Given the description of an element on the screen output the (x, y) to click on. 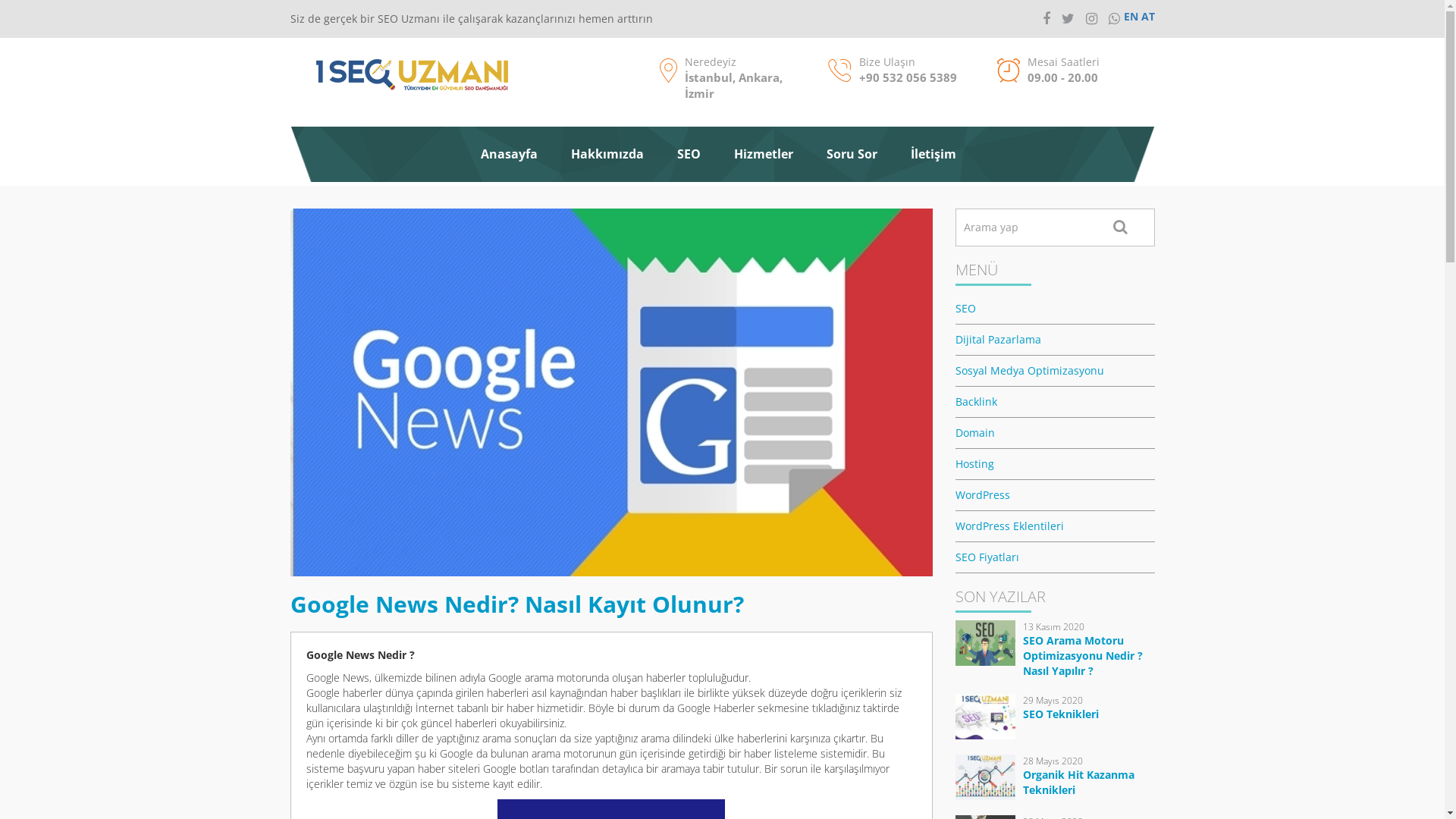
Sosyal Medya Optimizasyonu Element type: text (1054, 370)
SEO Element type: text (688, 154)
Backlink Element type: text (1054, 401)
Instagram Element type: hover (1091, 18)
Hizmetler Element type: text (763, 154)
Hosting Element type: text (1054, 464)
Dijital Pazarlama Element type: text (1054, 339)
Domain Element type: text (1054, 432)
WordPress Element type: text (1054, 495)
WordPress Eklentileri Element type: text (1054, 526)
EN Element type: text (1130, 16)
Twitter Element type: hover (1067, 18)
Whatsapp Element type: hover (1114, 18)
SEO Teknikleri Element type: text (1060, 713)
Facebook Element type: hover (1045, 18)
Anasayfa Element type: text (508, 154)
Organik Hit Kazanma Teknikleri Element type: text (1078, 782)
Soru Sor Element type: text (851, 154)
SEO Element type: text (1054, 308)
AT Element type: text (1147, 16)
